Given the description of an element on the screen output the (x, y) to click on. 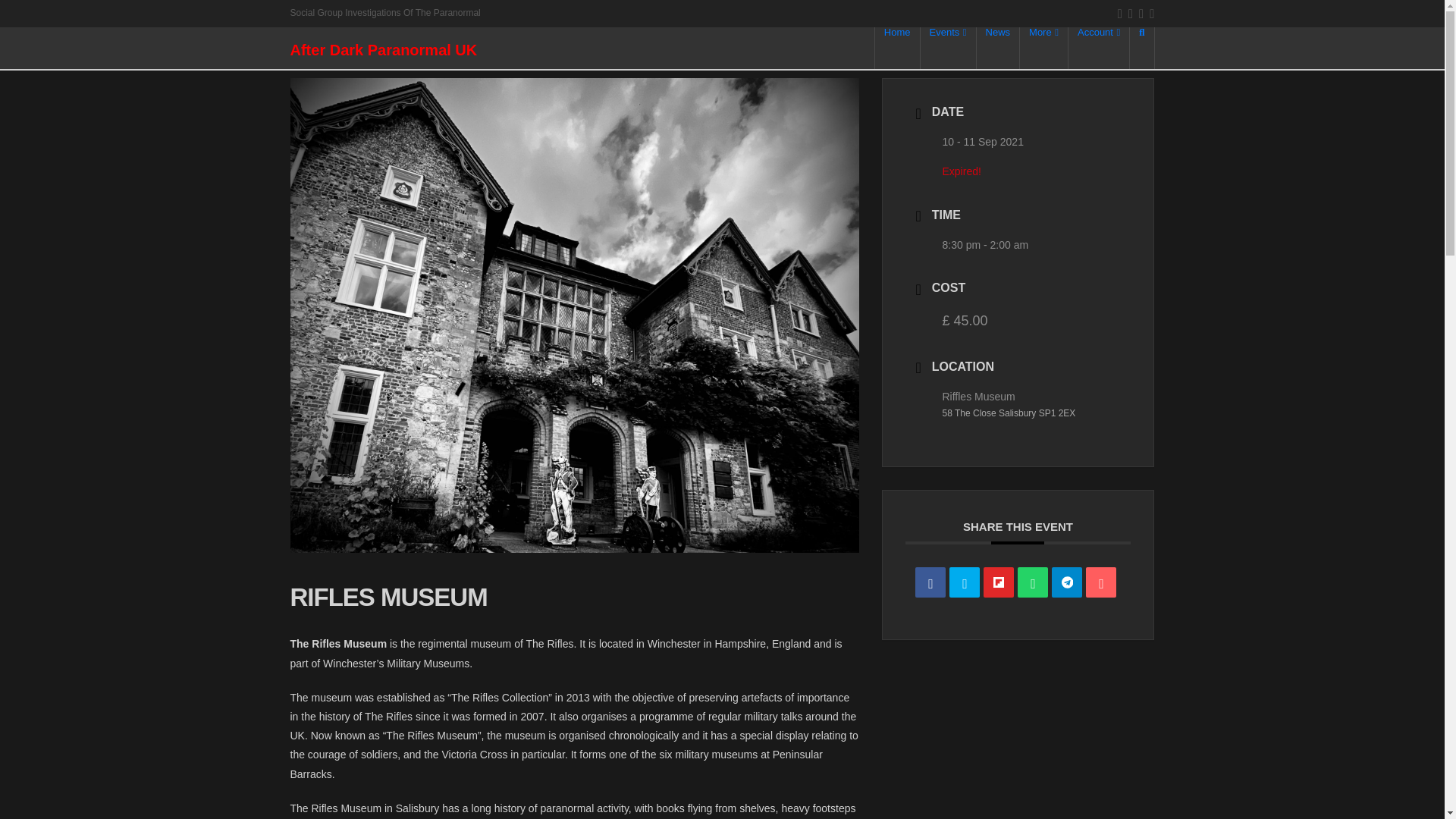
Account (1098, 47)
Events (948, 47)
Share on WhatsApp (1032, 582)
Share on Facebook (929, 582)
Share on Telegram (1066, 582)
News (998, 47)
Email (1101, 582)
Tweet (964, 582)
Share on Flipboard (998, 582)
After Dark Paranormal UK (383, 49)
Home (897, 47)
More (1044, 47)
